Given the description of an element on the screen output the (x, y) to click on. 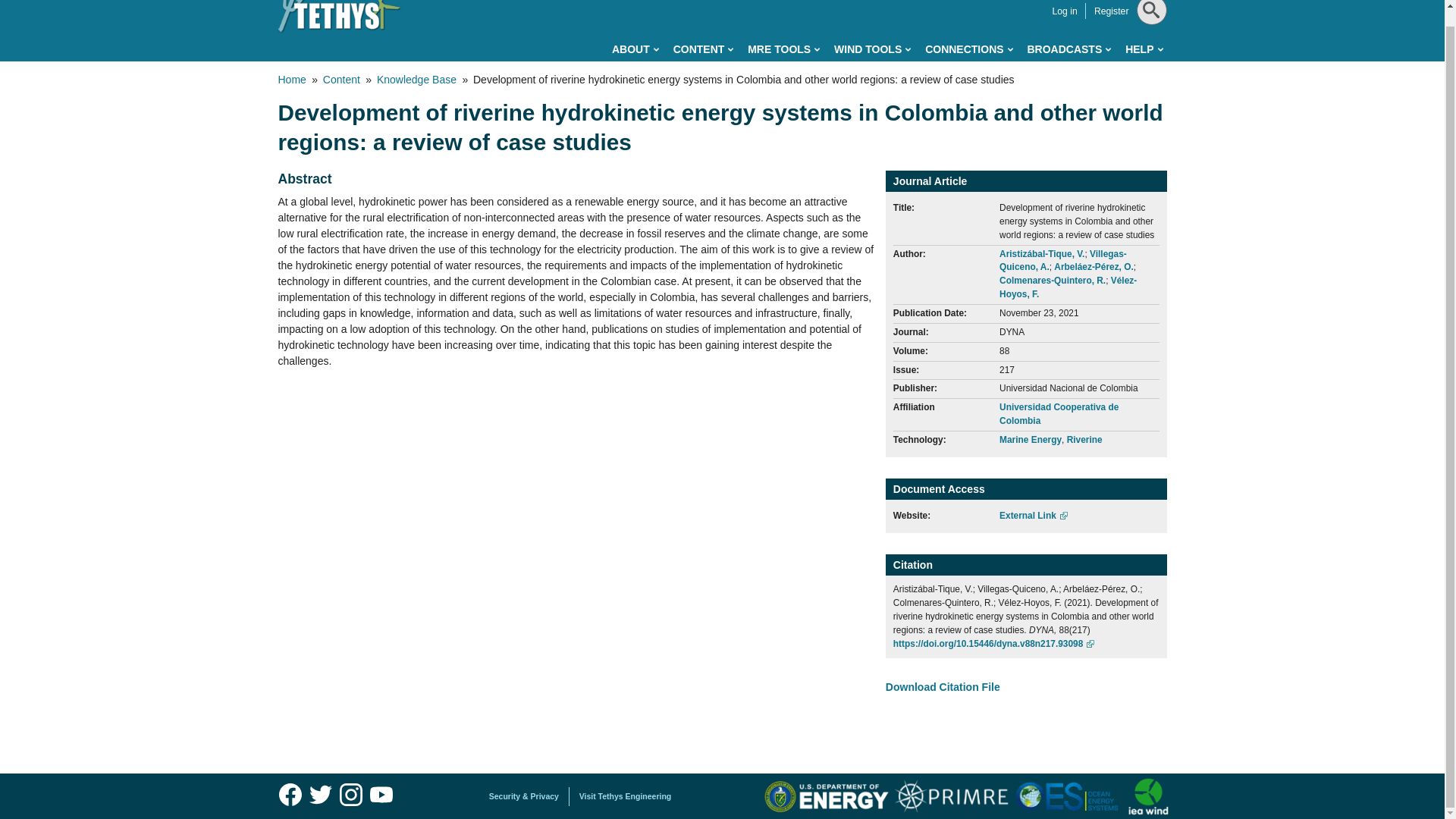
CONNECTIONS (967, 49)
WIND TOOLS (872, 49)
BROADCASTS (1068, 49)
Log in (1064, 10)
Search (1148, 48)
Home (339, 16)
CONTENT (702, 49)
Register (1111, 10)
Search (1148, 48)
HELP (1143, 49)
MRE TOOLS (783, 49)
ABOUT (635, 49)
